Given the description of an element on the screen output the (x, y) to click on. 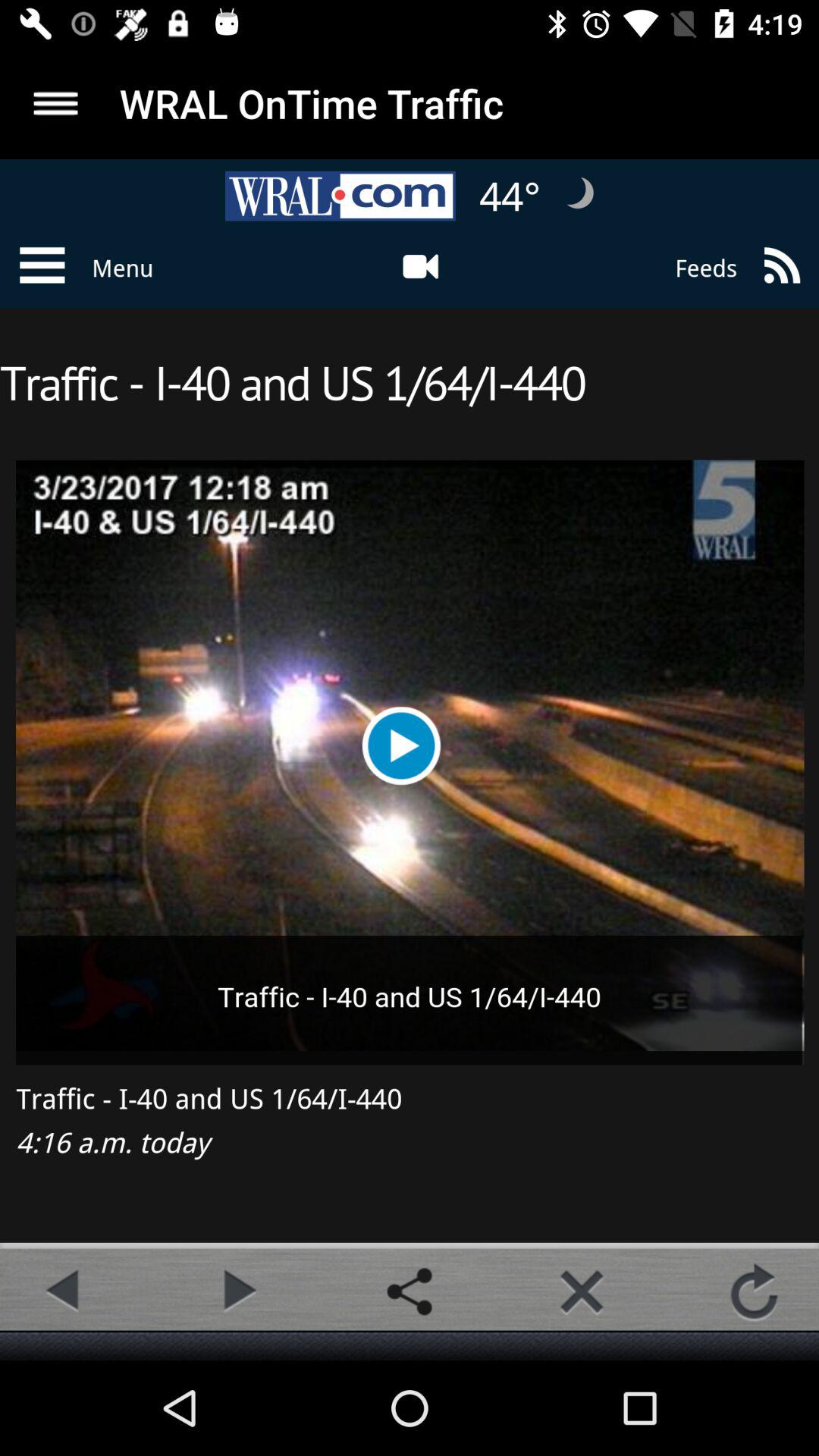
close tab (581, 1291)
